Given the description of an element on the screen output the (x, y) to click on. 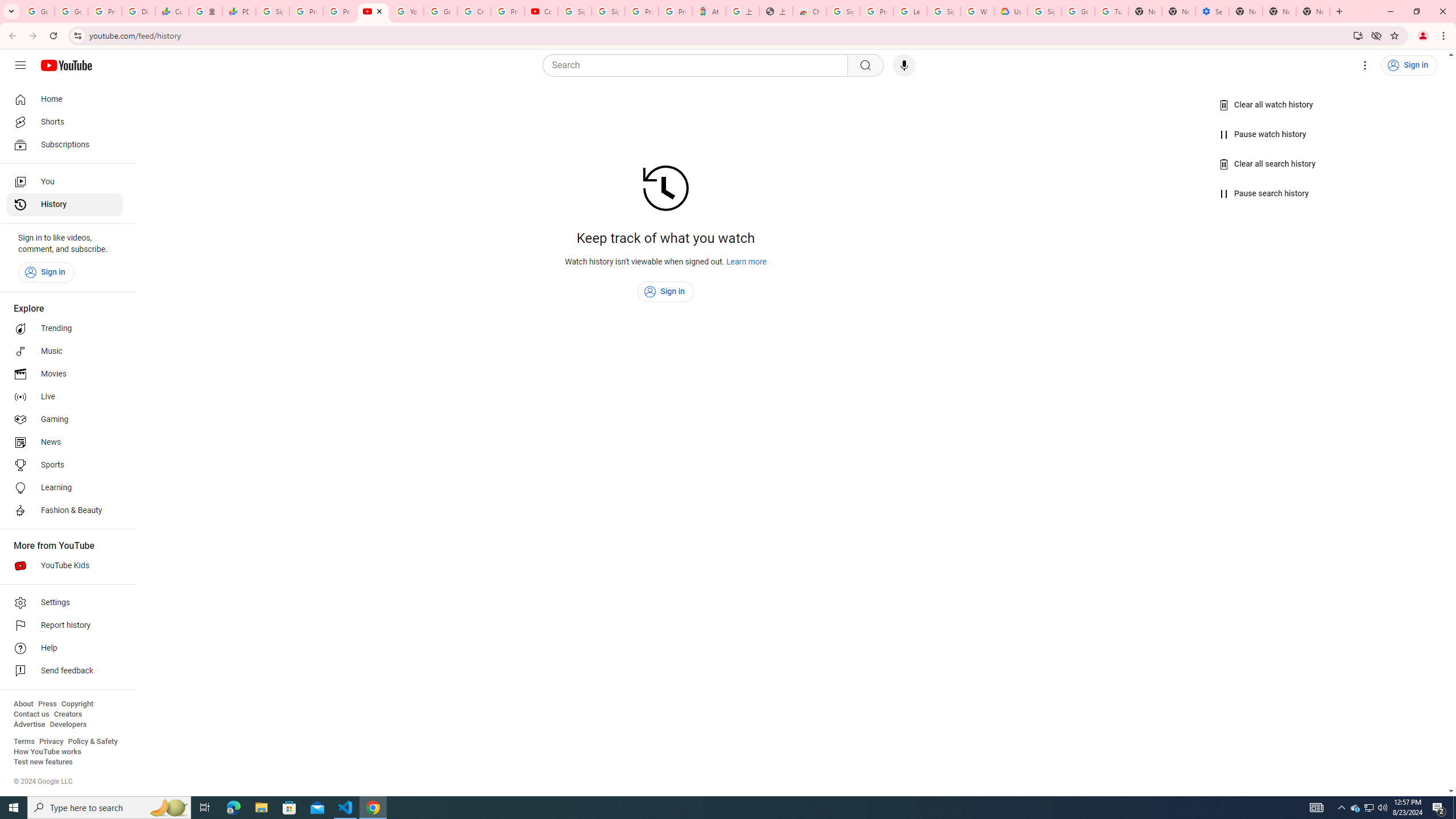
Press (46, 703)
Policy & Safety (91, 741)
Pause watch history (1263, 134)
News (64, 441)
Live (64, 396)
Chrome Web Store (809, 11)
Turn cookies on or off - Computer - Google Account Help (1111, 11)
Sign in - Google Accounts (1043, 11)
Sign in (665, 291)
Learn more (746, 261)
